Given the description of an element on the screen output the (x, y) to click on. 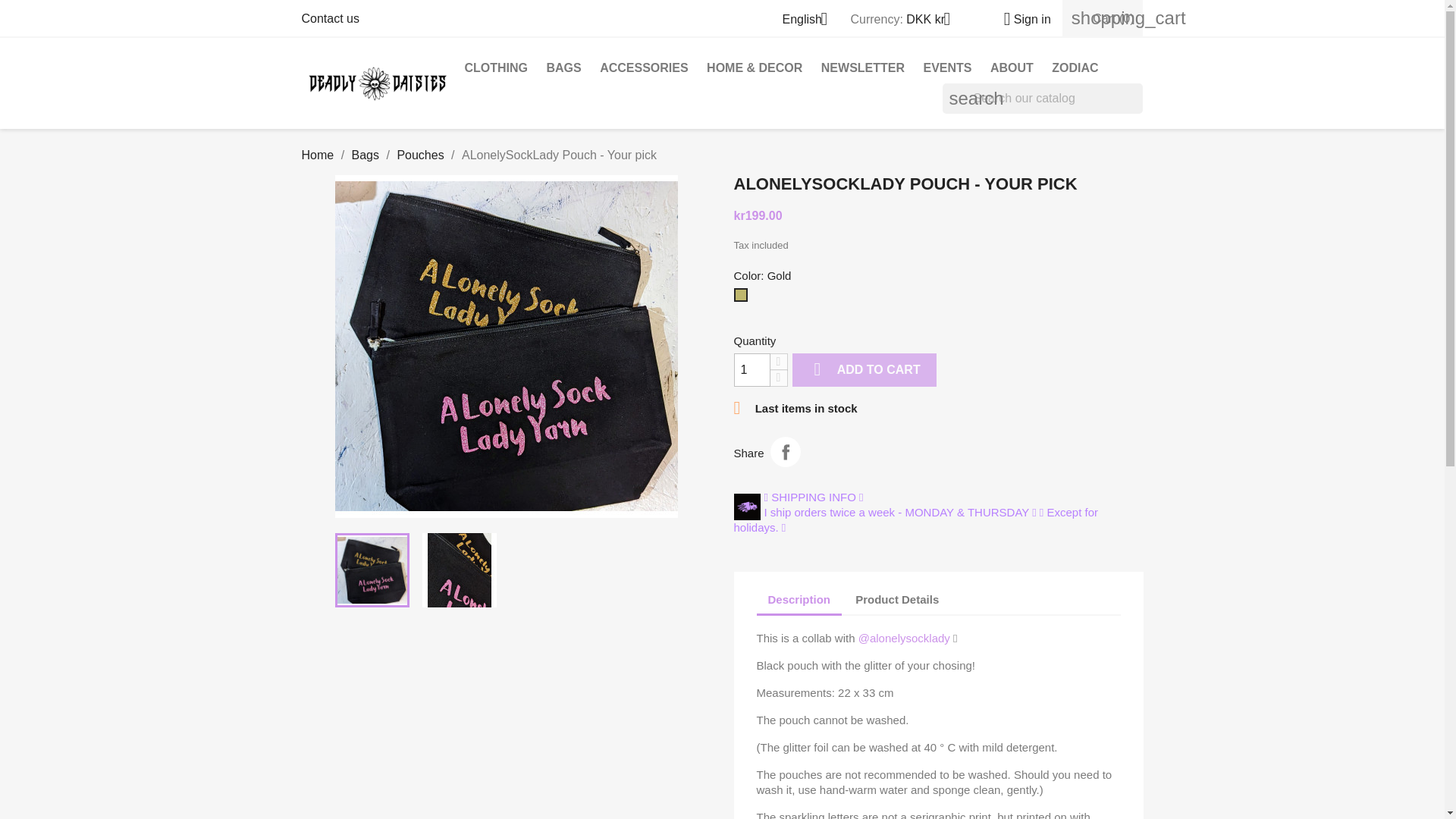
CLOTHING (496, 68)
Pouches (420, 154)
Bags (365, 154)
Contact us (330, 18)
BAGS (563, 68)
Home (317, 154)
Share (785, 451)
EVENTS (946, 68)
ZODIAC (1074, 68)
ACCESSORIES (643, 68)
